Given the description of an element on the screen output the (x, y) to click on. 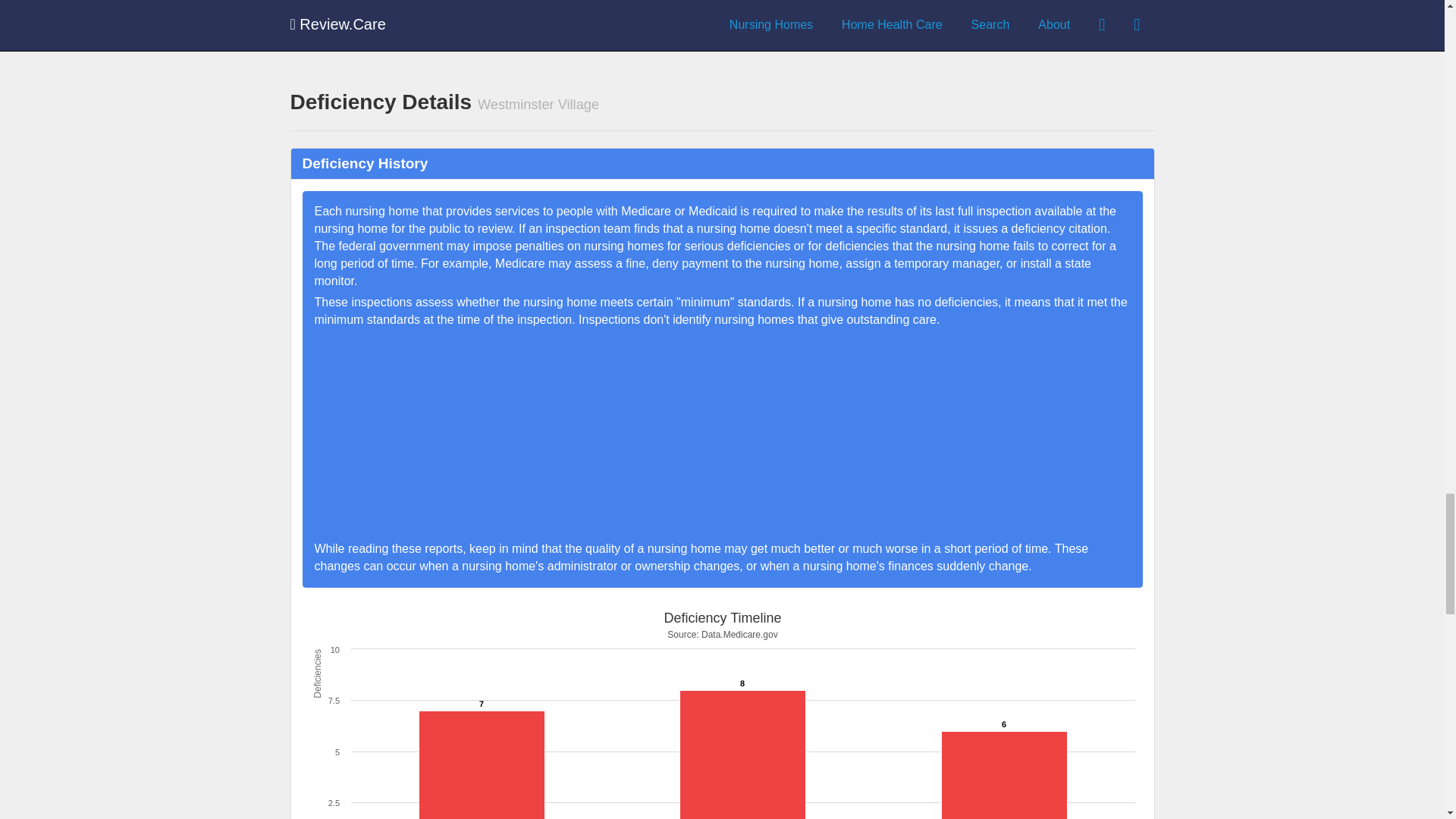
Data.Medicare.gov (735, 14)
